Given the description of an element on the screen output the (x, y) to click on. 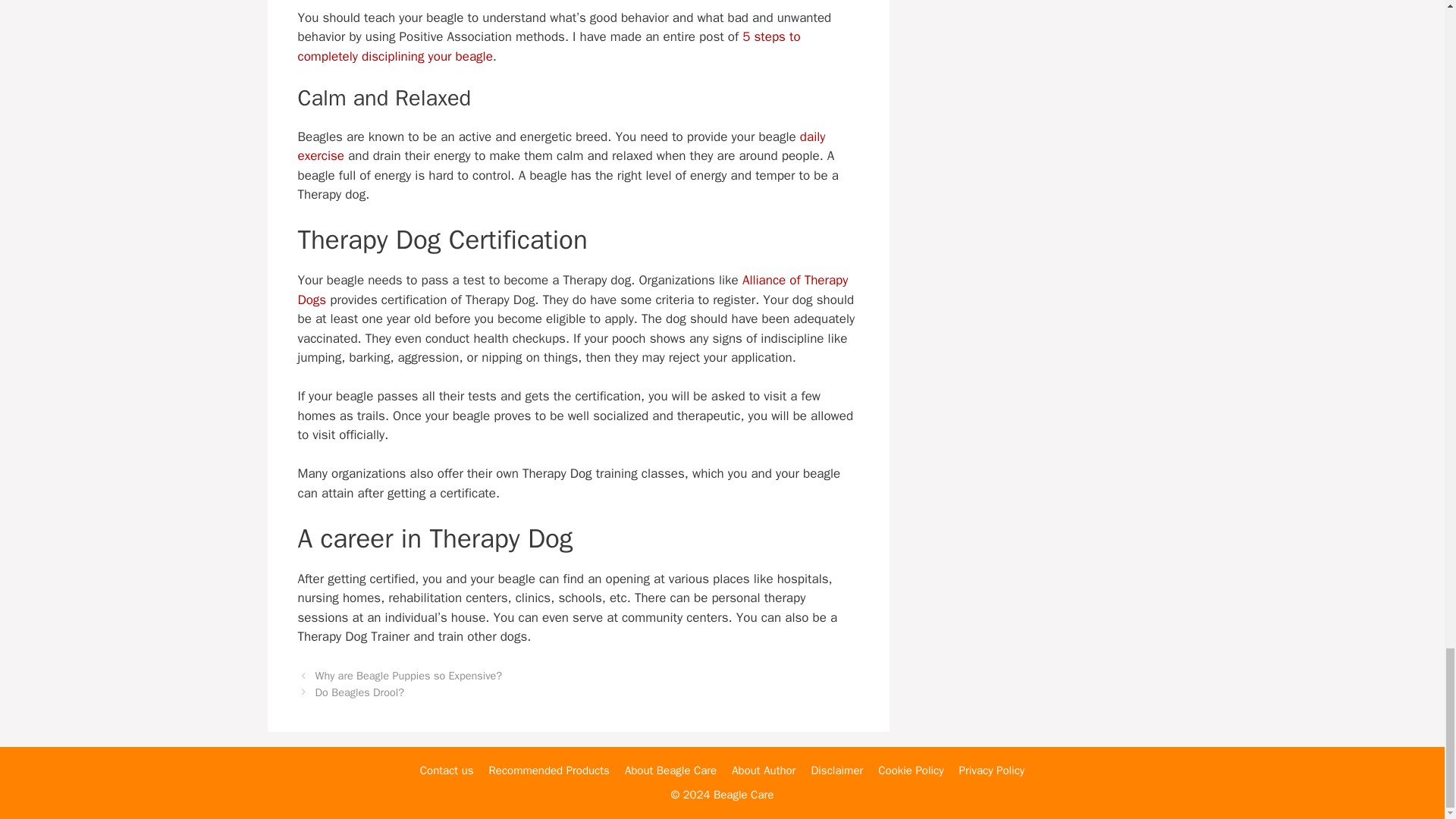
About Author (763, 770)
Cookie Policy (910, 770)
About Beagle Care (670, 770)
Do Beagles Drool? (359, 692)
Disclaimer (836, 770)
Privacy Policy (992, 770)
Why are Beagle Puppies so Expensive? (408, 675)
Recommended Products (549, 770)
daily exercise (561, 146)
Contact us (447, 770)
5 steps to completely disciplining your beagle (548, 46)
Alliance of Therapy Dogs (572, 289)
